Given the description of an element on the screen output the (x, y) to click on. 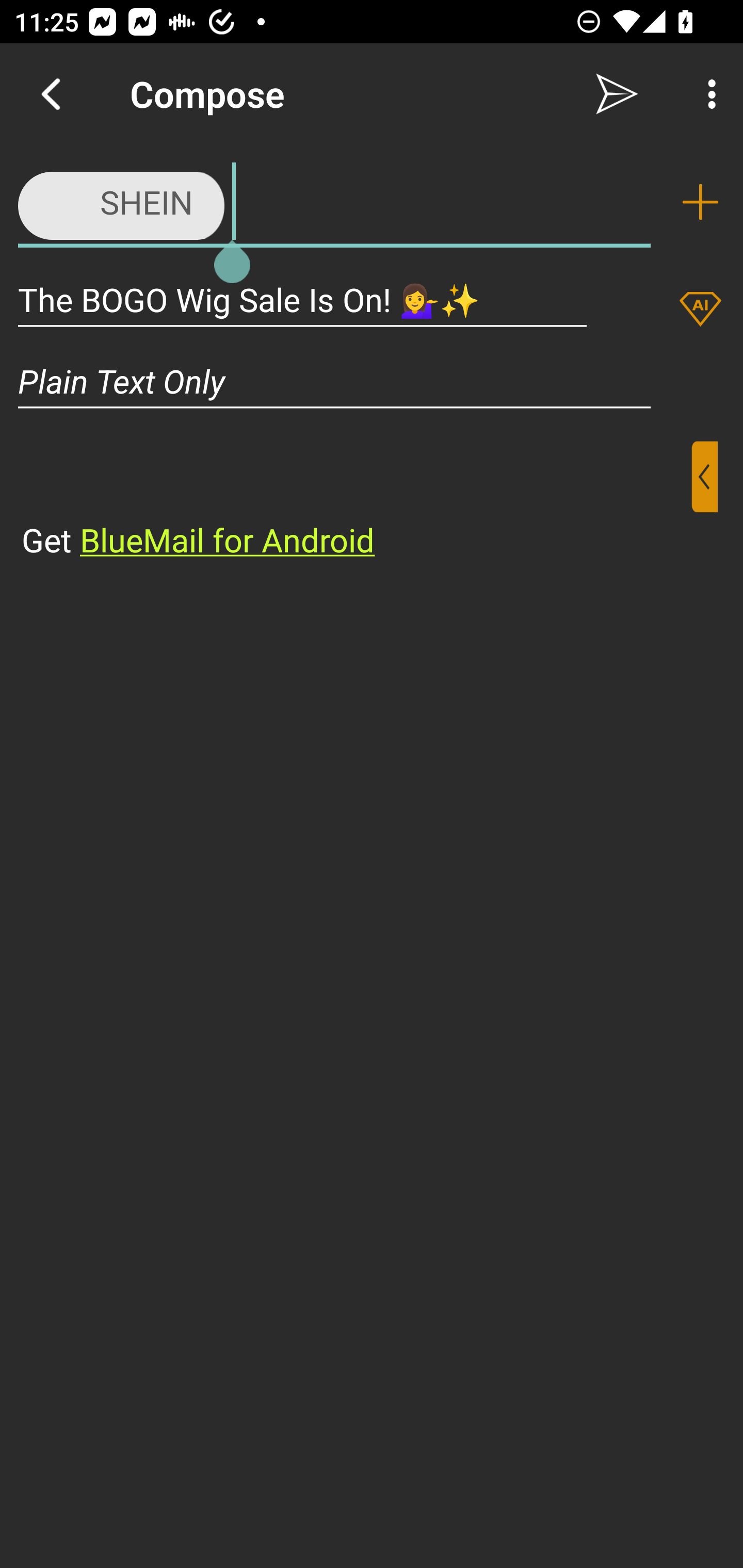
Navigate up (50, 93)
Send (616, 93)
More Options (706, 93)
SHEIN <shein@usmail.shein.com>,  (334, 201)
Add recipient (To) (699, 201)
The BOGO Wig Sale Is On! 💁‍♀️✨ (302, 299)
Plain Text Only (371, 380)


⁣Get BlueMail for Android ​ (355, 501)
